Given the description of an element on the screen output the (x, y) to click on. 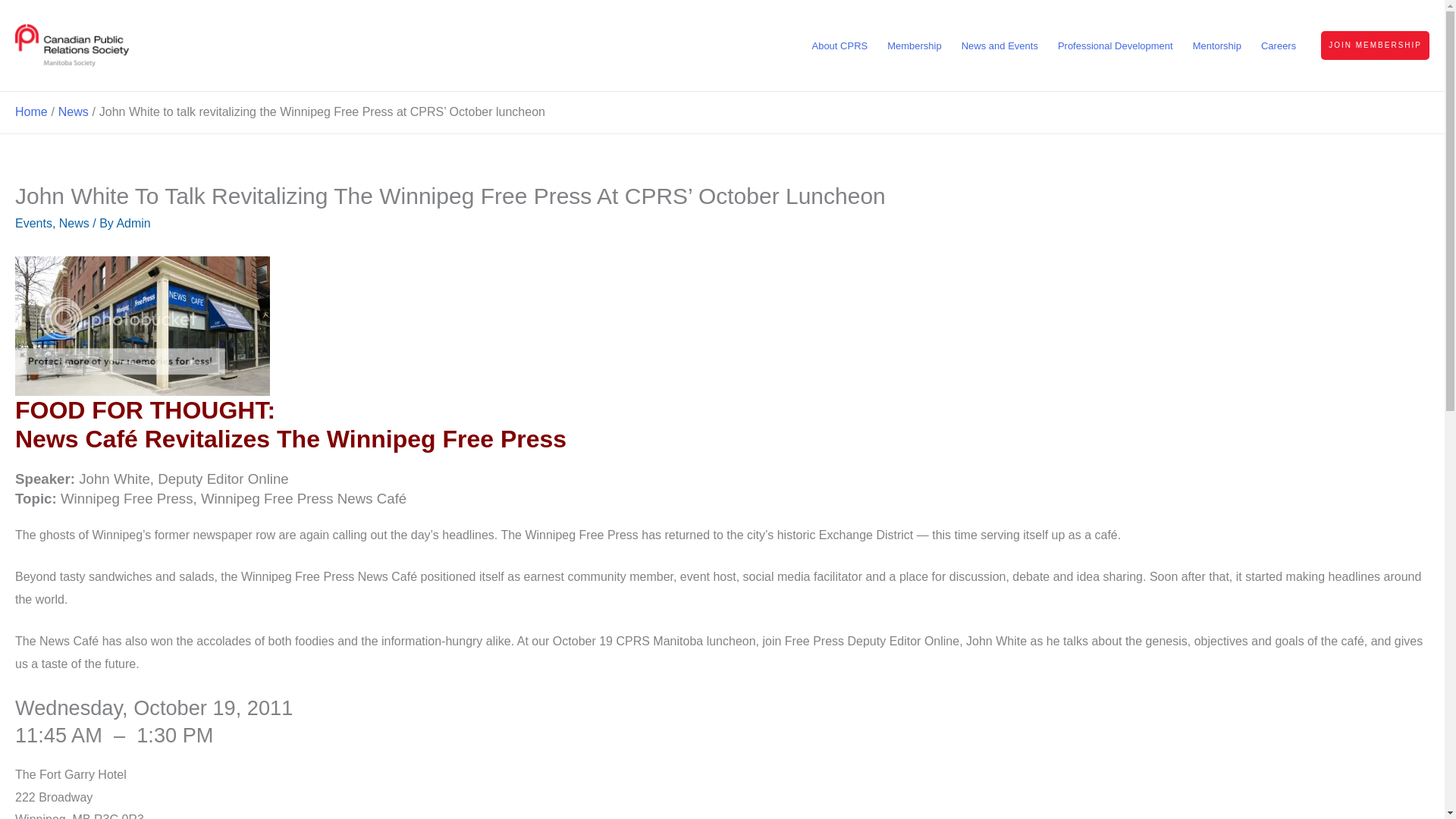
View all posts by Admin (132, 223)
Professional Development (1115, 45)
Mentorship (1216, 45)
News and Events (1000, 45)
Membership (914, 45)
About CPRS (839, 45)
